Given the description of an element on the screen output the (x, y) to click on. 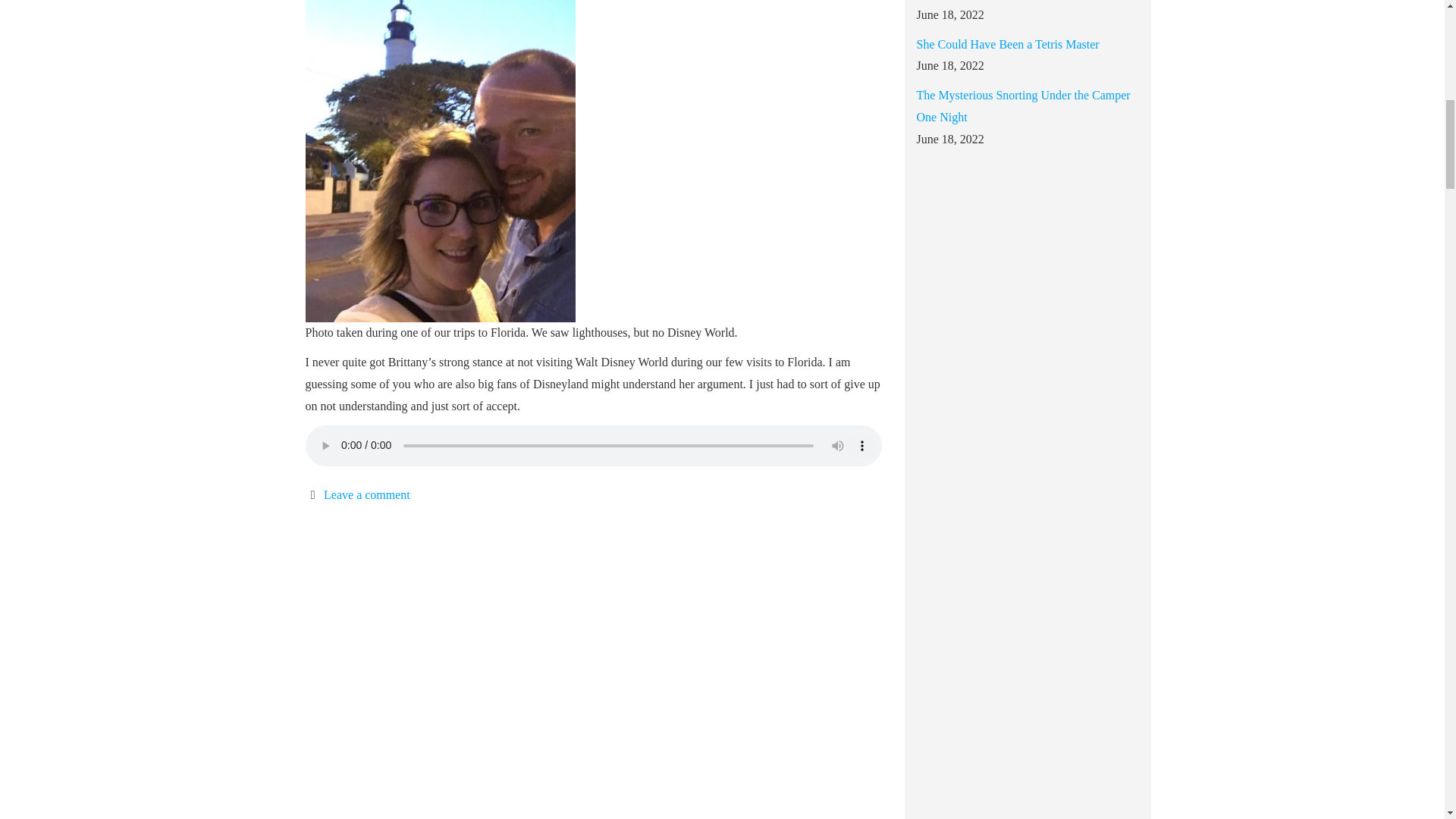
Leave a comment (366, 494)
